Given the description of an element on the screen output the (x, y) to click on. 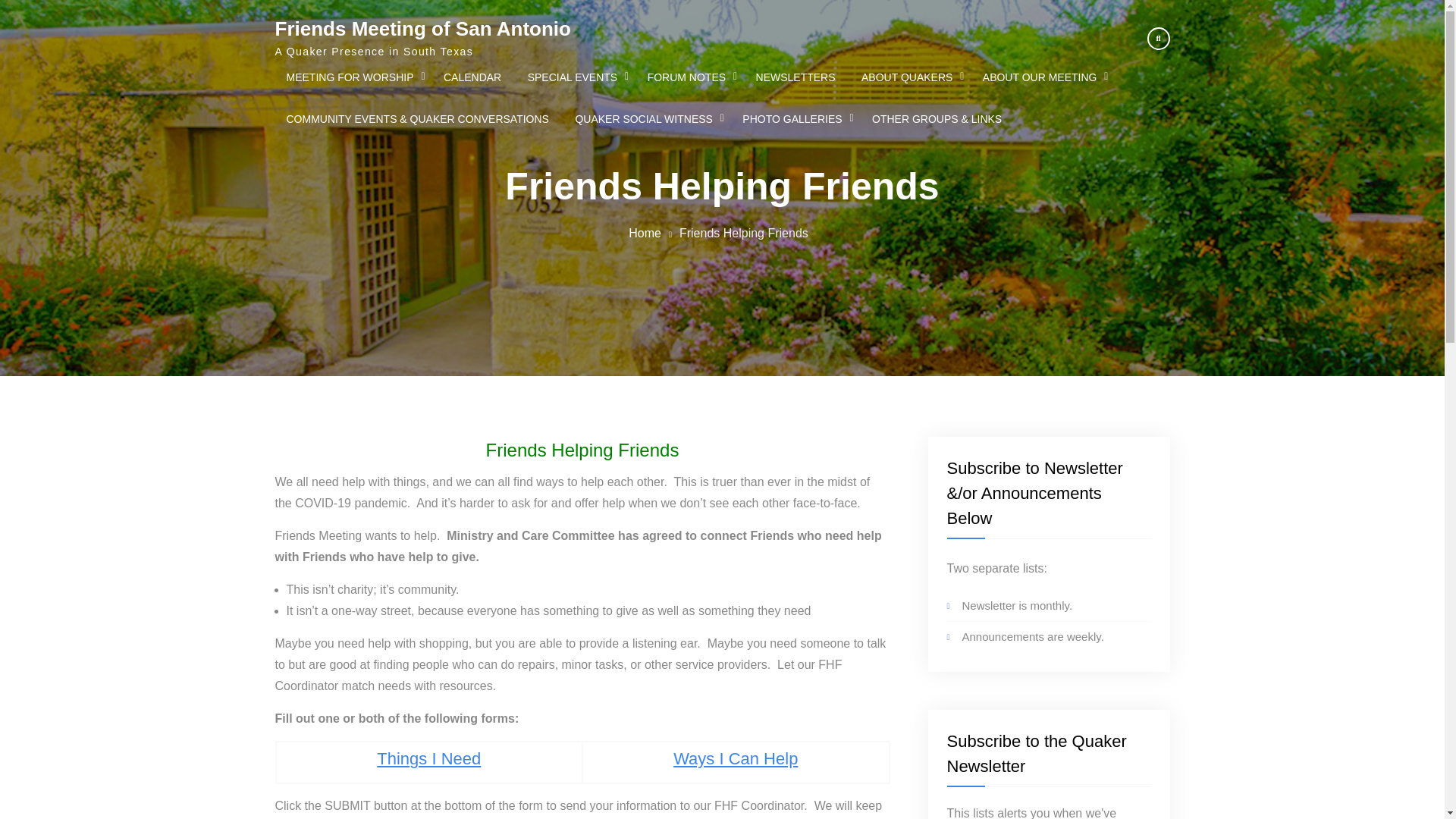
CALENDAR (472, 77)
Friends Meeting of San Antonio (422, 28)
PHOTO GALLERIES (793, 119)
NEWSLETTERS (795, 77)
QUAKER SOCIAL WITNESS (645, 119)
ABOUT QUAKERS (909, 77)
SPECIAL EVENTS (574, 77)
MEETING FOR WORSHIP (351, 77)
FORUM NOTES (688, 77)
ABOUT OUR MEETING (1041, 77)
